Given the description of an element on the screen output the (x, y) to click on. 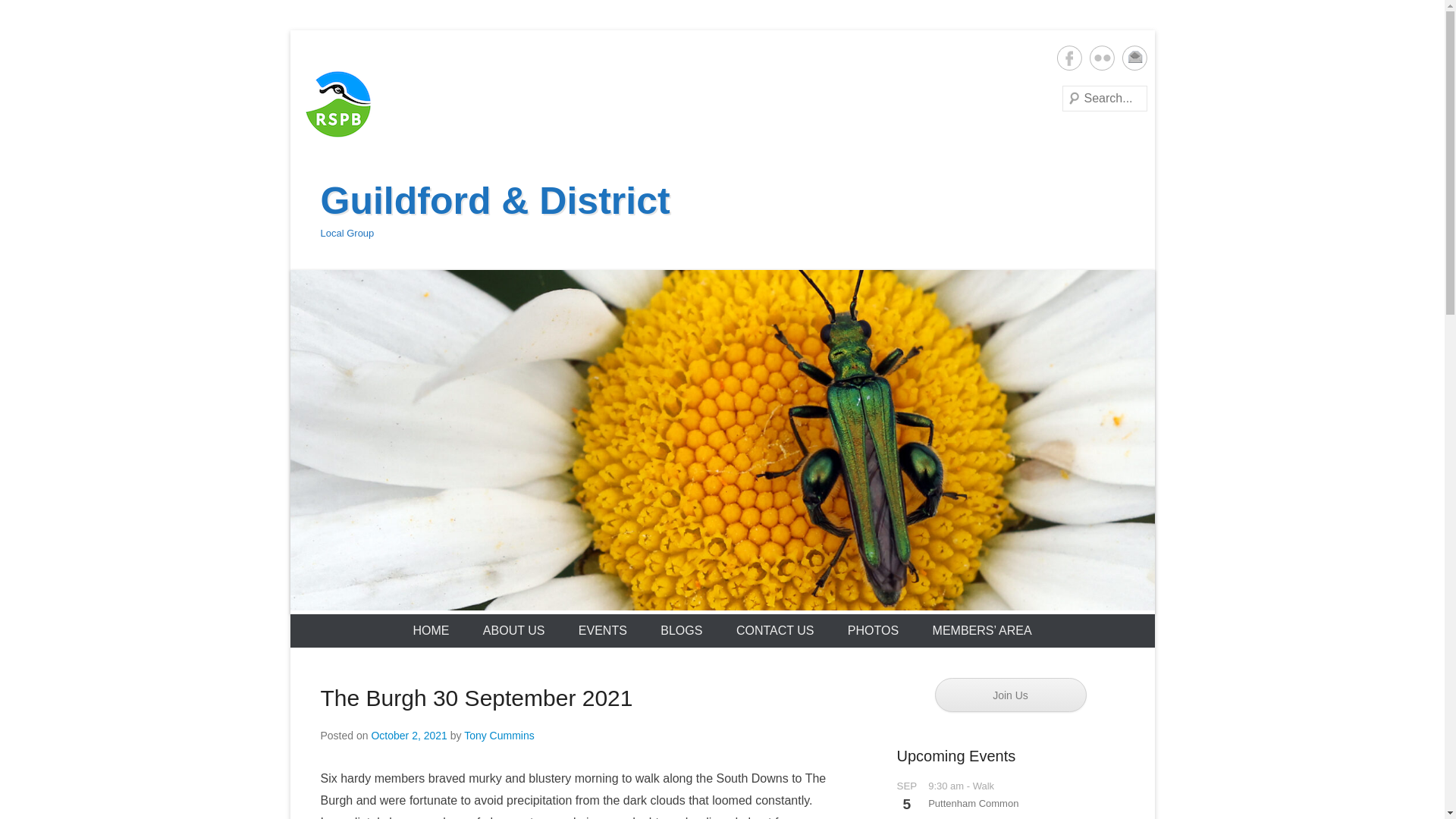
EVENTS (602, 630)
Flickr (1101, 57)
Join Us (1010, 694)
ABOUT US (513, 630)
CONTACT US (774, 630)
11:00 am (408, 735)
Facebook (1069, 57)
Email (1134, 57)
View all posts by Tony Cummins (499, 735)
